Given the description of an element on the screen output the (x, y) to click on. 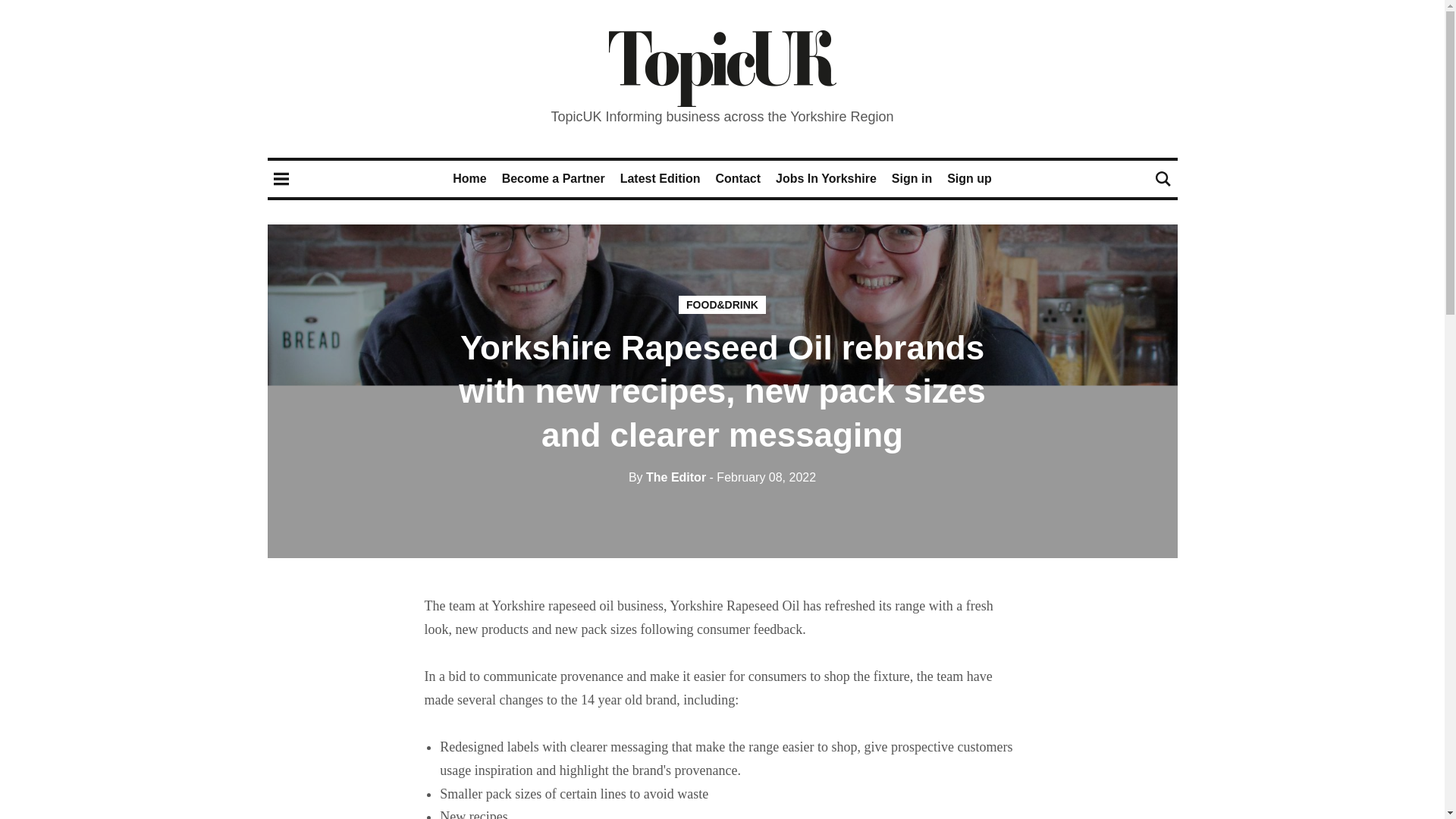
Jobs In Yorkshire (826, 178)
Sign up (969, 178)
Become a Partner (553, 178)
Contact (737, 178)
Latest Edition (660, 178)
By The Editor (667, 477)
Sign in (911, 178)
Home (469, 178)
08 February, 2022 (763, 477)
